Given the description of an element on the screen output the (x, y) to click on. 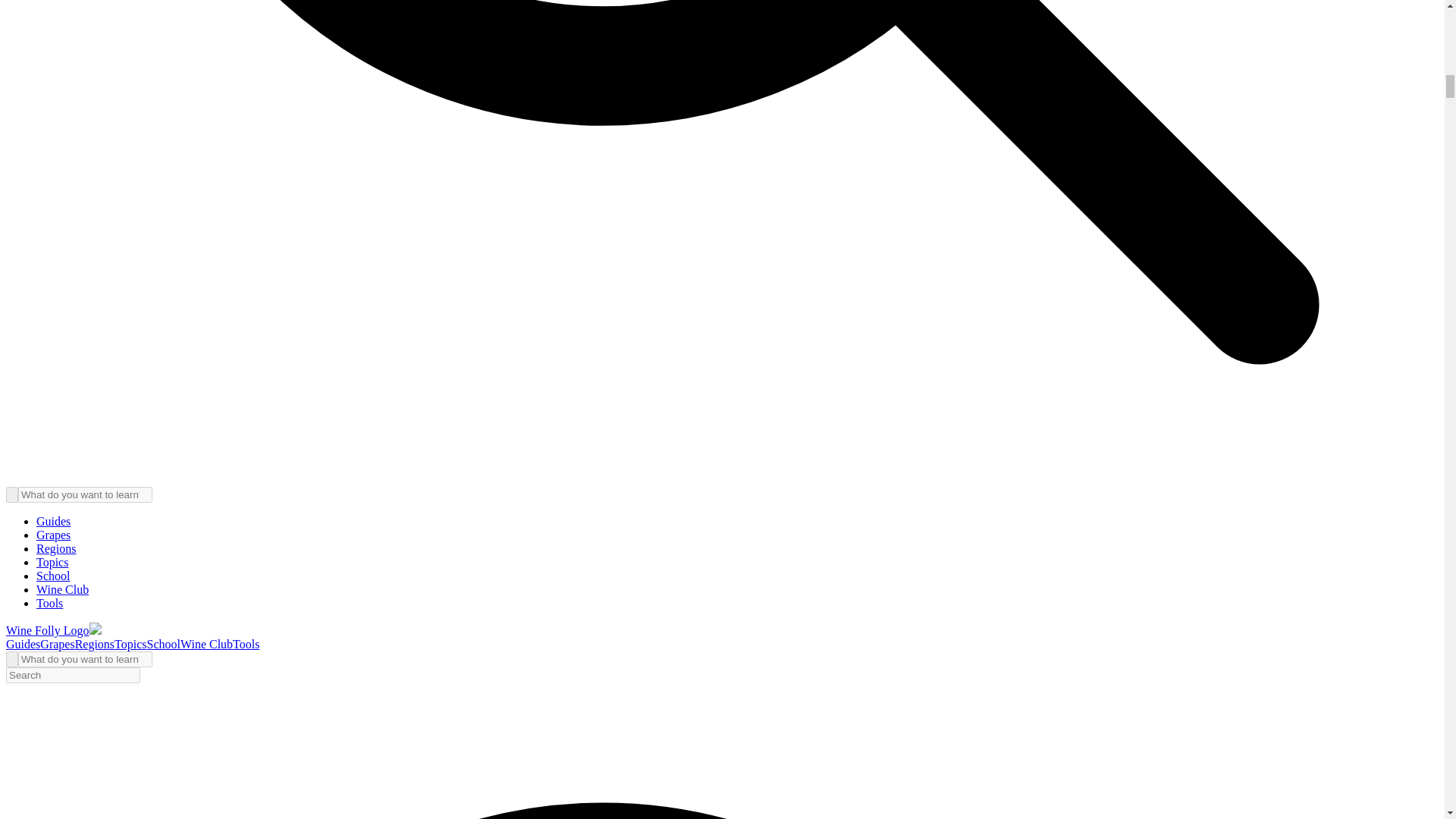
Tools (49, 603)
Wine Folly Logo (53, 630)
Grapes (57, 644)
Guides (52, 521)
Wine Club (62, 589)
Guides (22, 644)
Grapes (52, 534)
Regions (95, 644)
Topics (52, 562)
School (52, 575)
